Given the description of an element on the screen output the (x, y) to click on. 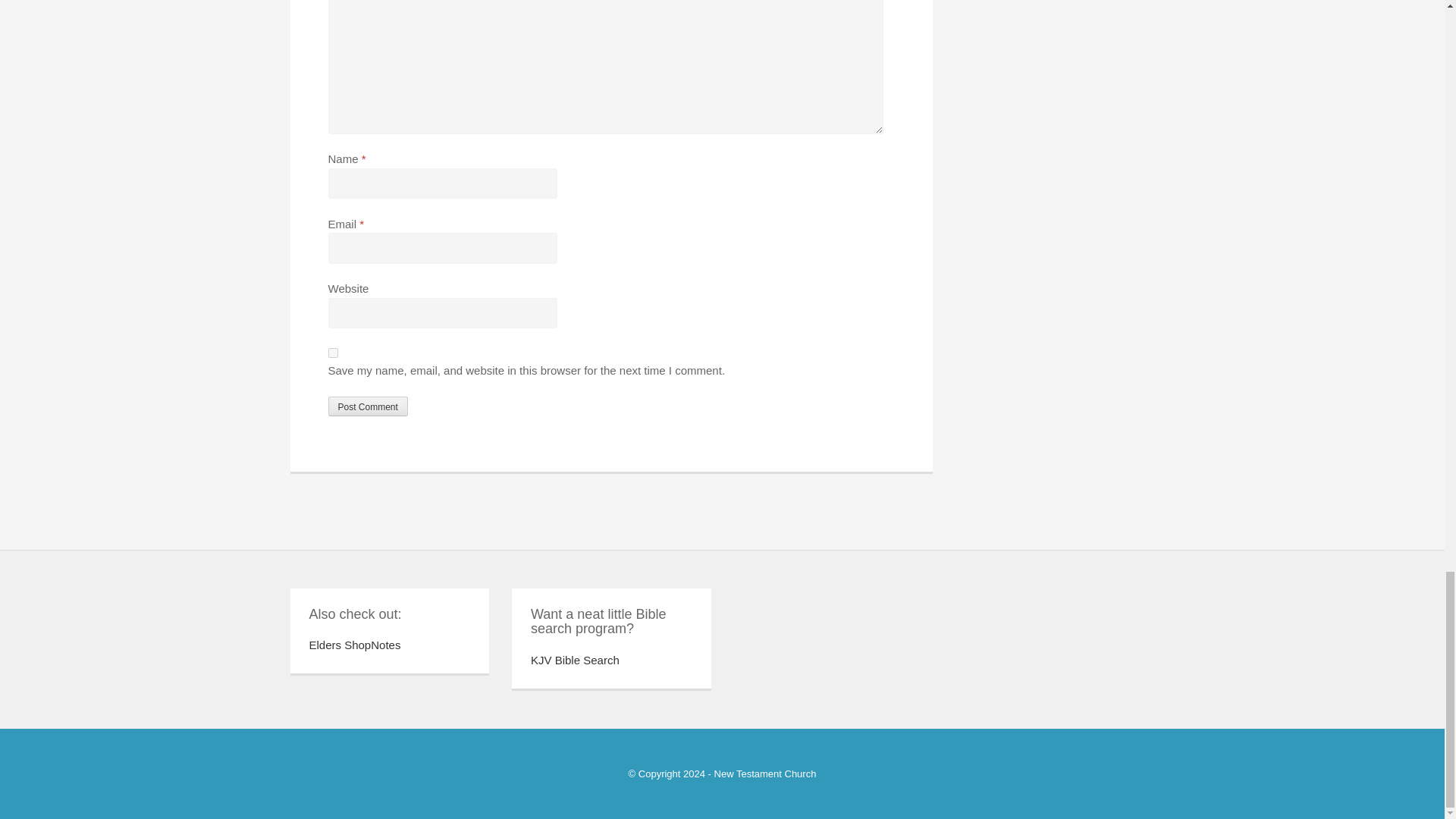
KJV Bible Search (575, 659)
yes (332, 352)
New Testament Church (765, 773)
Post Comment (367, 406)
Elders ShopNotes (354, 644)
Post Comment (367, 406)
